Given the description of an element on the screen output the (x, y) to click on. 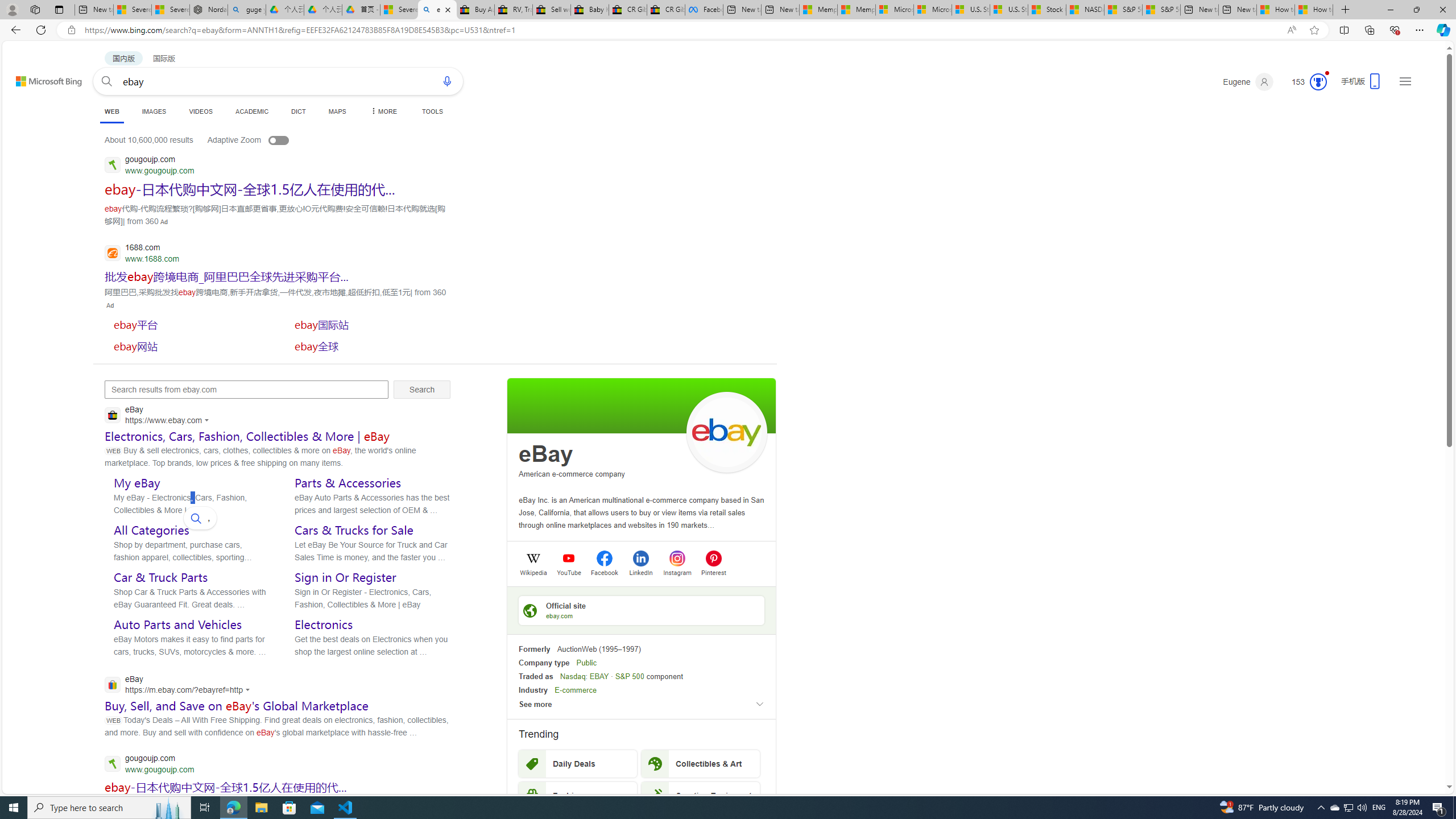
Nasdaq (572, 676)
eBay (545, 453)
ACADEMIC (252, 111)
DICT (298, 111)
Electronics, Cars, Fashion, Collectibles & More | eBay (247, 436)
